Given the description of an element on the screen output the (x, y) to click on. 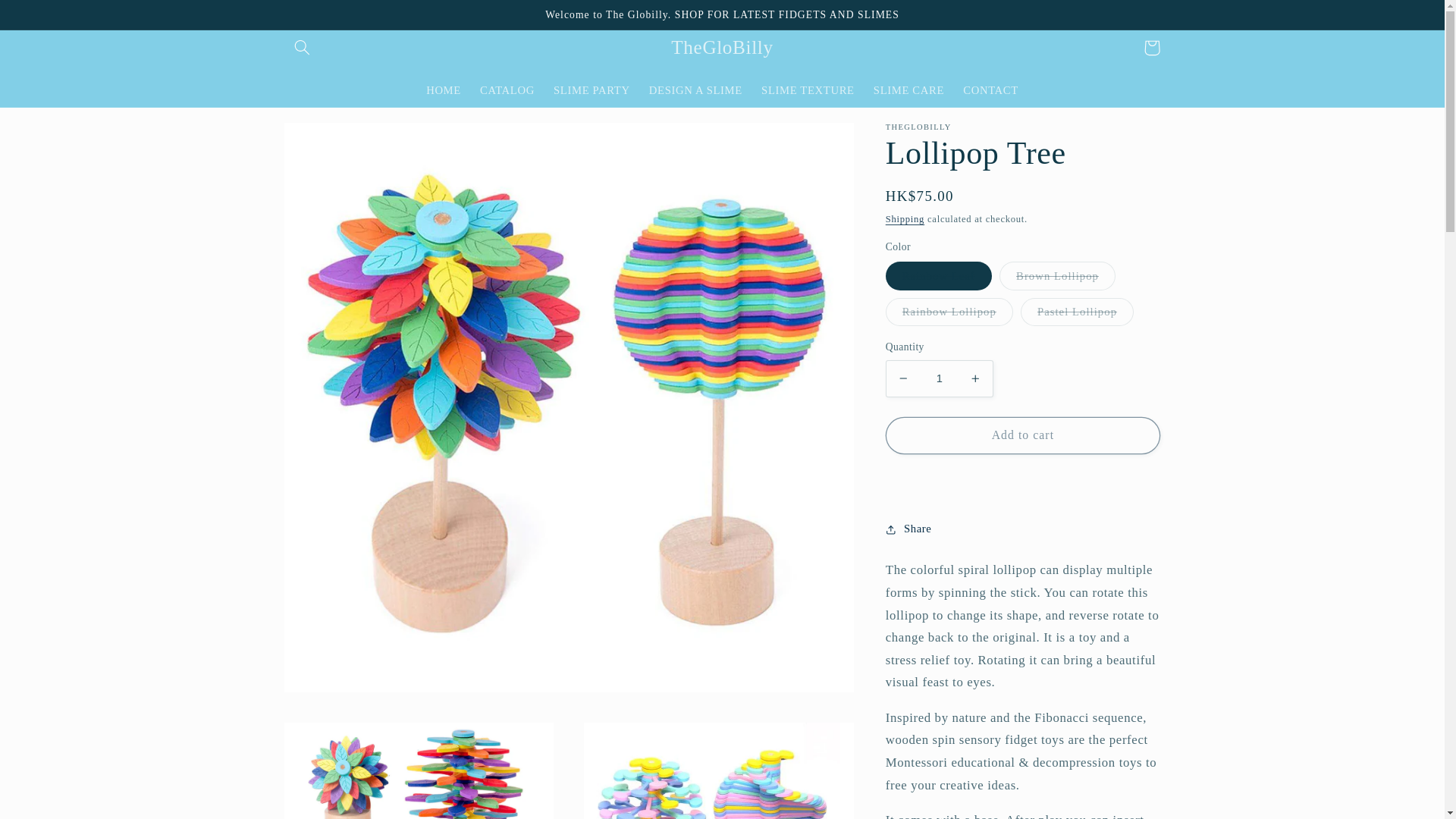
DESIGN A SLIME (695, 90)
SLIME TEXTURE (808, 90)
1 (939, 378)
Skip to content (48, 18)
TheGloBilly (721, 47)
HOME (443, 90)
Shipping (904, 218)
